Given the description of an element on the screen output the (x, y) to click on. 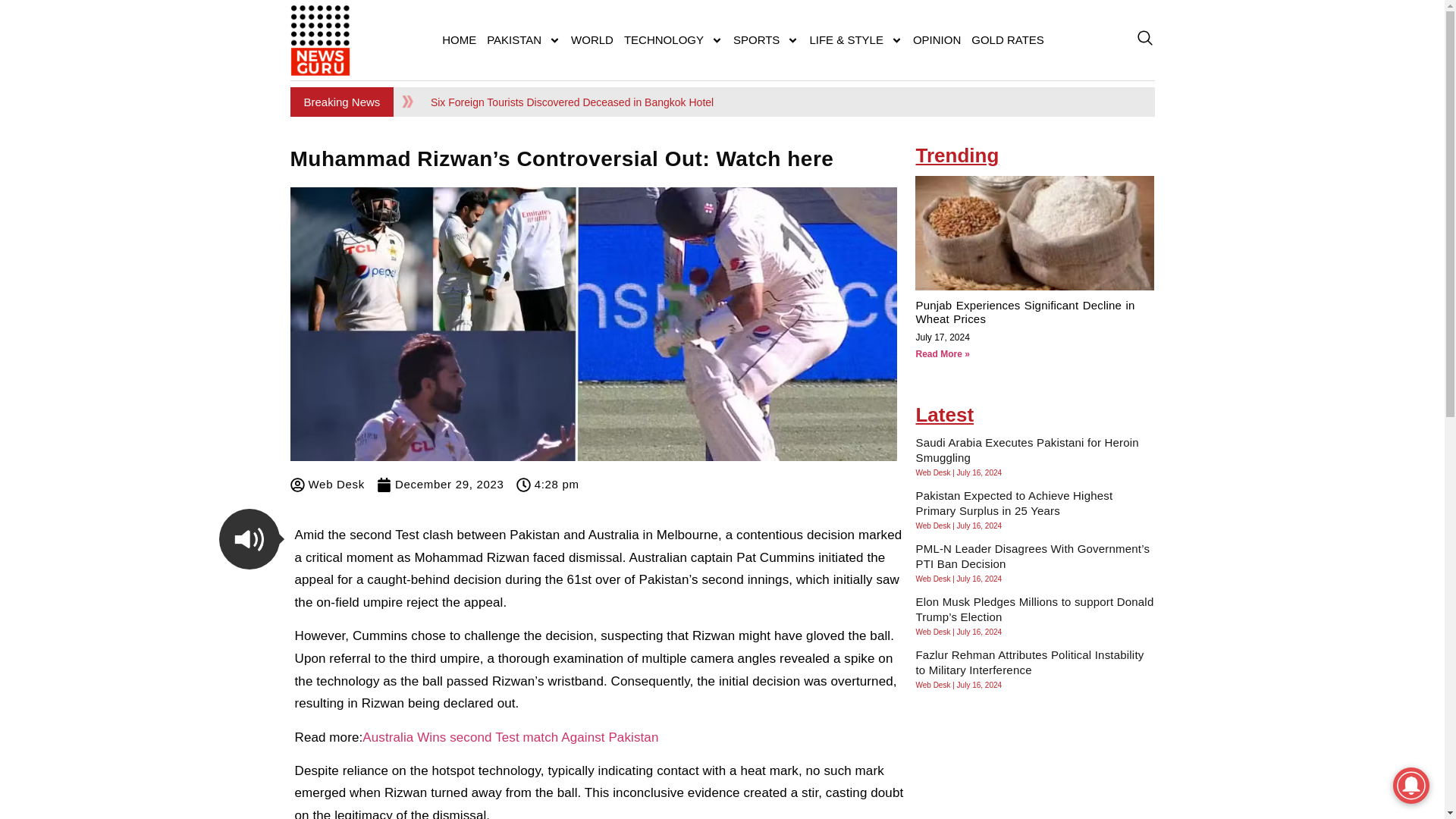
PAKISTAN (523, 39)
WORLD (592, 39)
GOLD RATES (1007, 39)
OPINION (936, 39)
Read Content (248, 538)
HOME (458, 39)
SPORTS (765, 39)
TECHNOLOGY (673, 39)
